Given the description of an element on the screen output the (x, y) to click on. 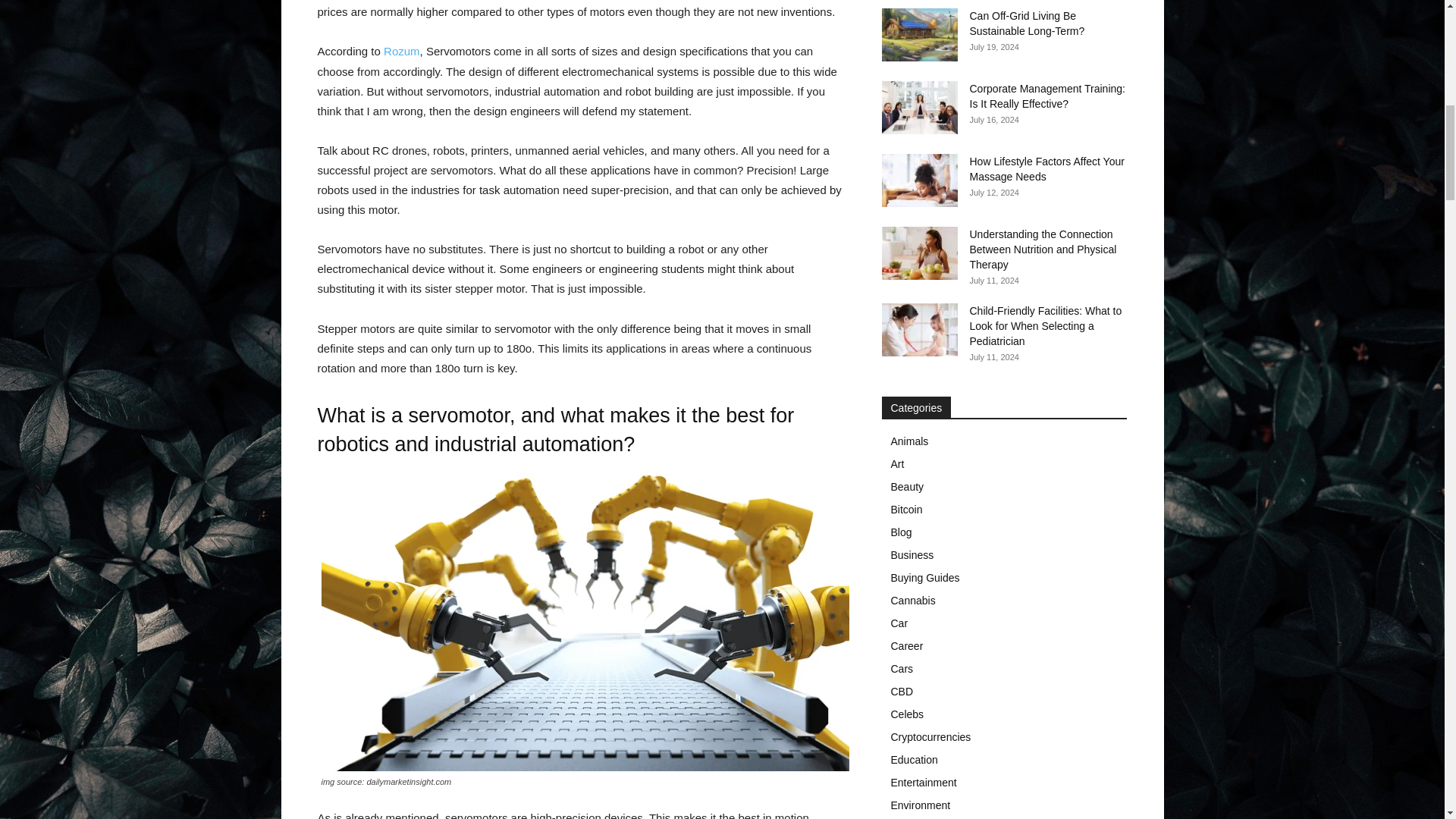
Rozum (402, 51)
